Given the description of an element on the screen output the (x, y) to click on. 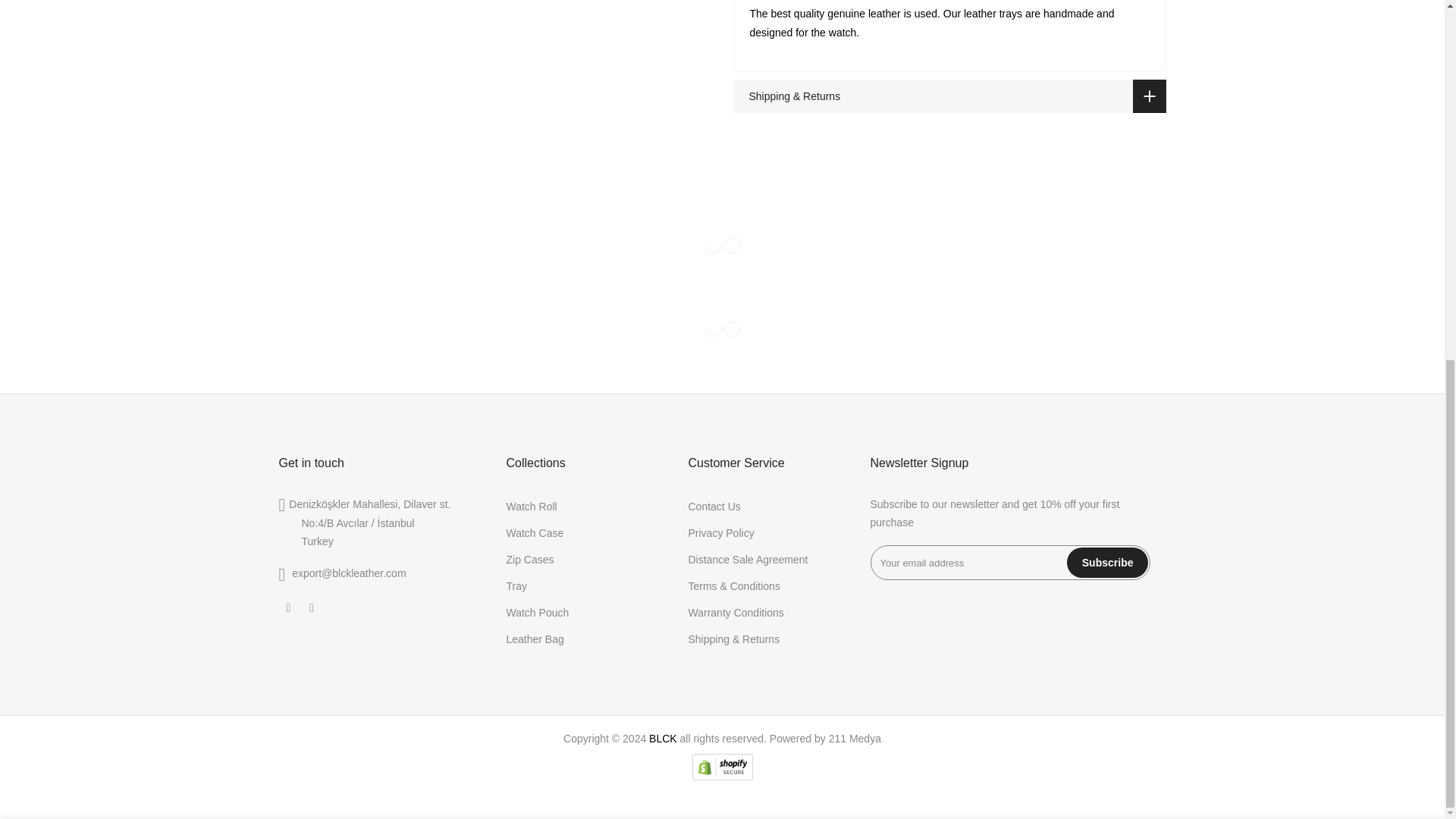
Watch Case (535, 532)
1 (1001, 215)
Zip Cases (530, 559)
Watch Roll (531, 506)
